Given the description of an element on the screen output the (x, y) to click on. 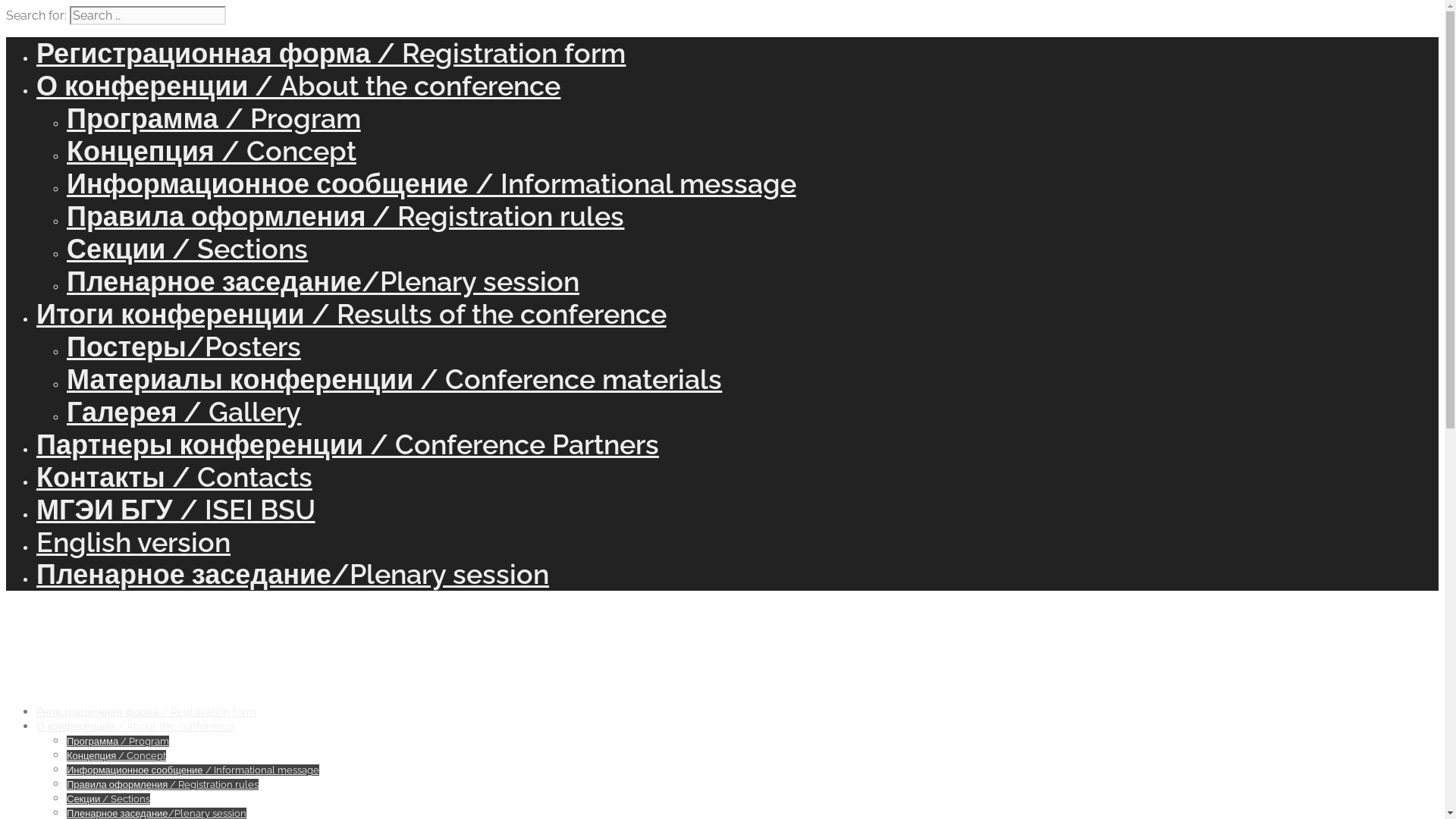
English version Element type: text (133, 542)
Search for: Element type: hover (147, 15)
